Given the description of an element on the screen output the (x, y) to click on. 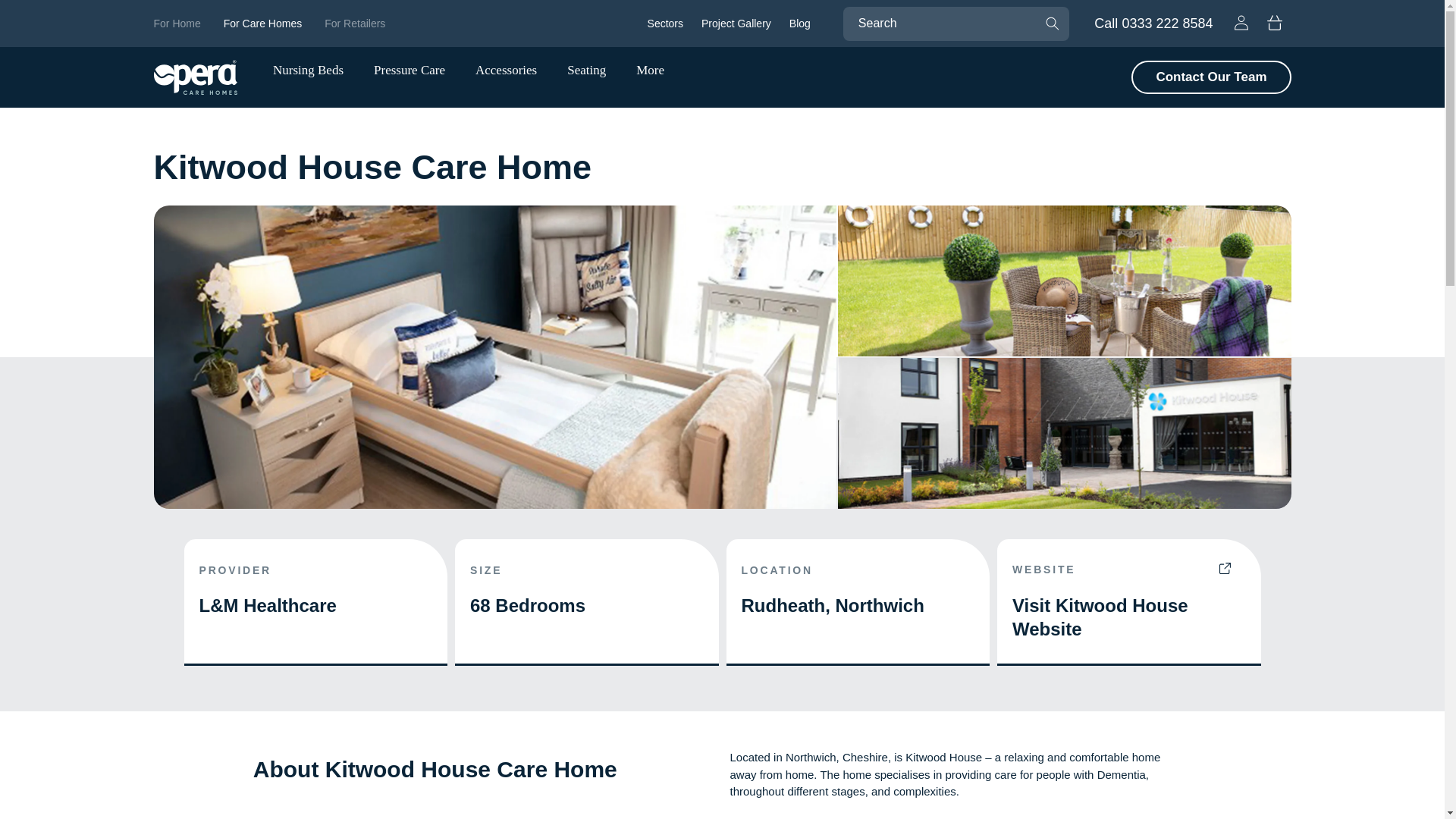
Kitwood House Care Home (721, 167)
For Care Homes (1159, 23)
Skip To Content (262, 23)
My Account (46, 18)
Cart (1240, 22)
For Retailers (1273, 22)
For Home (354, 23)
Project Gallery (176, 23)
Blog (736, 23)
